Given the description of an element on the screen output the (x, y) to click on. 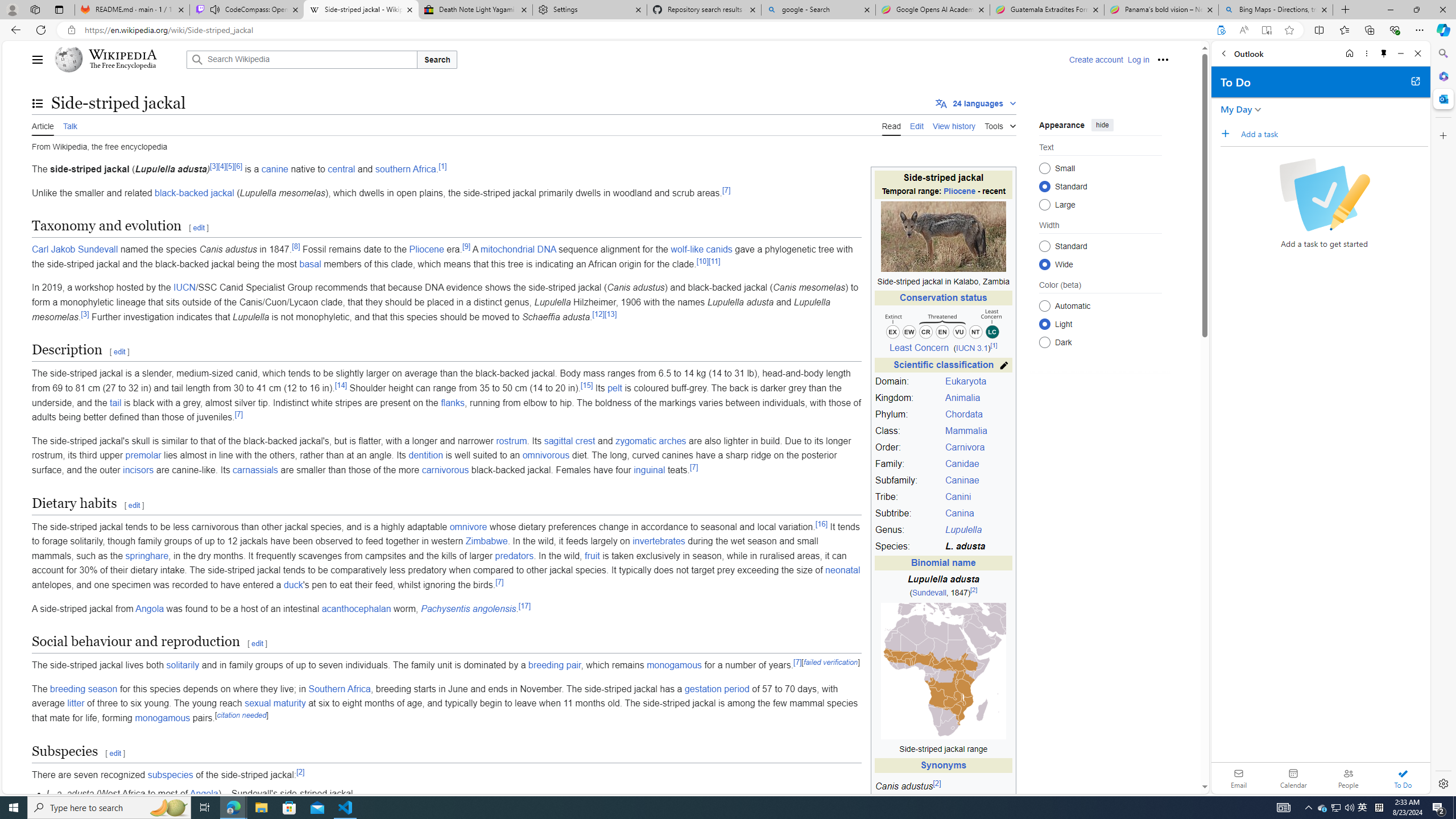
canine (274, 169)
Canis adustus[2] (942, 788)
Animalia (961, 397)
Automatic (1044, 305)
[13] (610, 313)
Small (1044, 167)
Synonyms (942, 765)
Zimbabwe (486, 541)
Conservation status (942, 298)
Checkbox with a pencil (1324, 194)
Support Wikipedia? (1220, 29)
Article (42, 124)
Add a task (1228, 133)
